Given the description of an element on the screen output the (x, y) to click on. 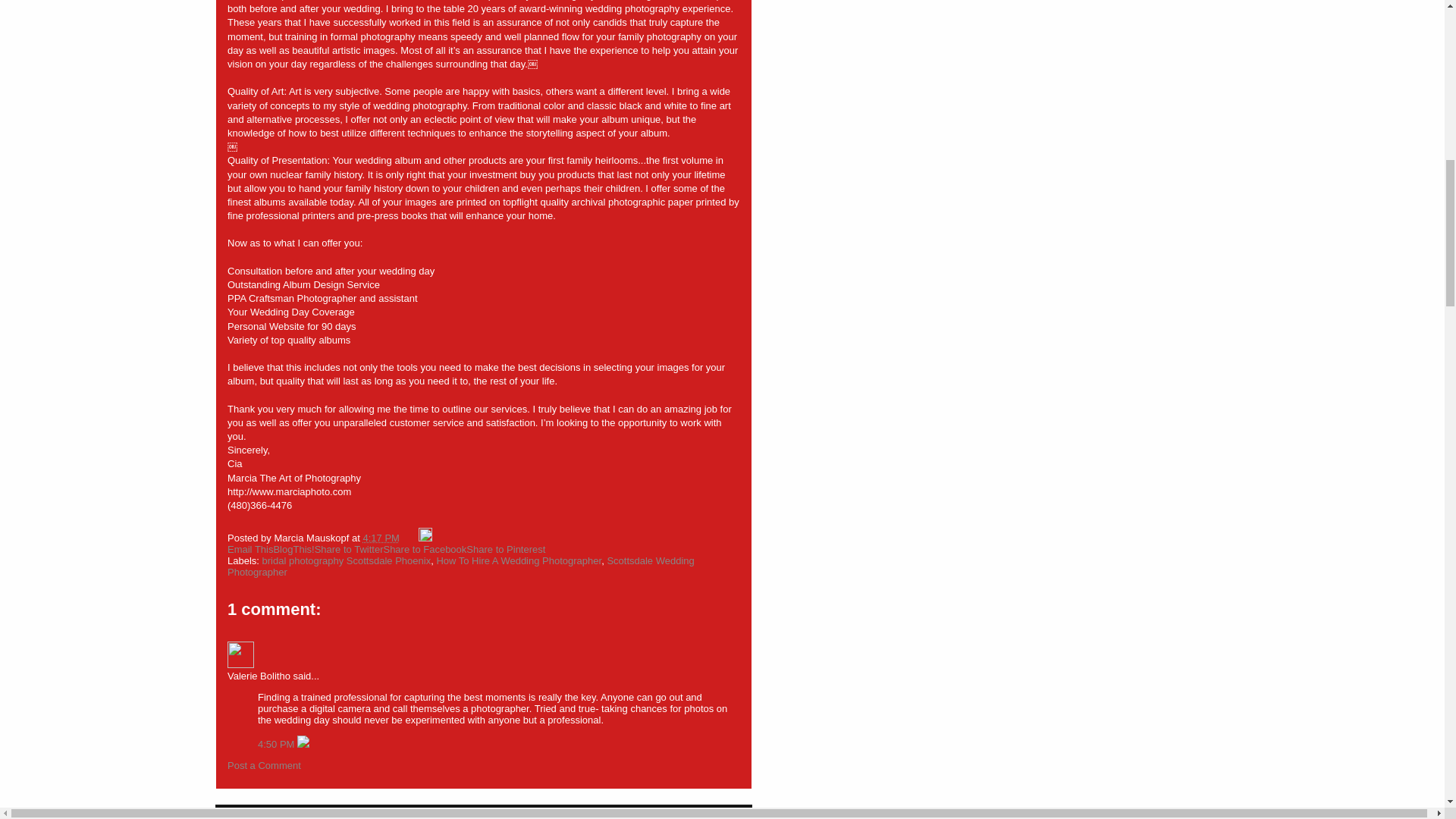
Valerie Bolitho (240, 654)
Share to Twitter (349, 549)
permanent link (380, 537)
Older Post (319, 817)
Email This (250, 549)
Share to Twitter (349, 549)
Post a Comment (264, 765)
Share to Pinterest (504, 549)
bridal photography Scottsdale Phoenix (346, 560)
Older Post (319, 817)
Share to Facebook (423, 549)
4:17 PM (380, 537)
Scottsdale Wedding Photographer (460, 566)
Home (366, 817)
Share to Pinterest (504, 549)
